Given the description of an element on the screen output the (x, y) to click on. 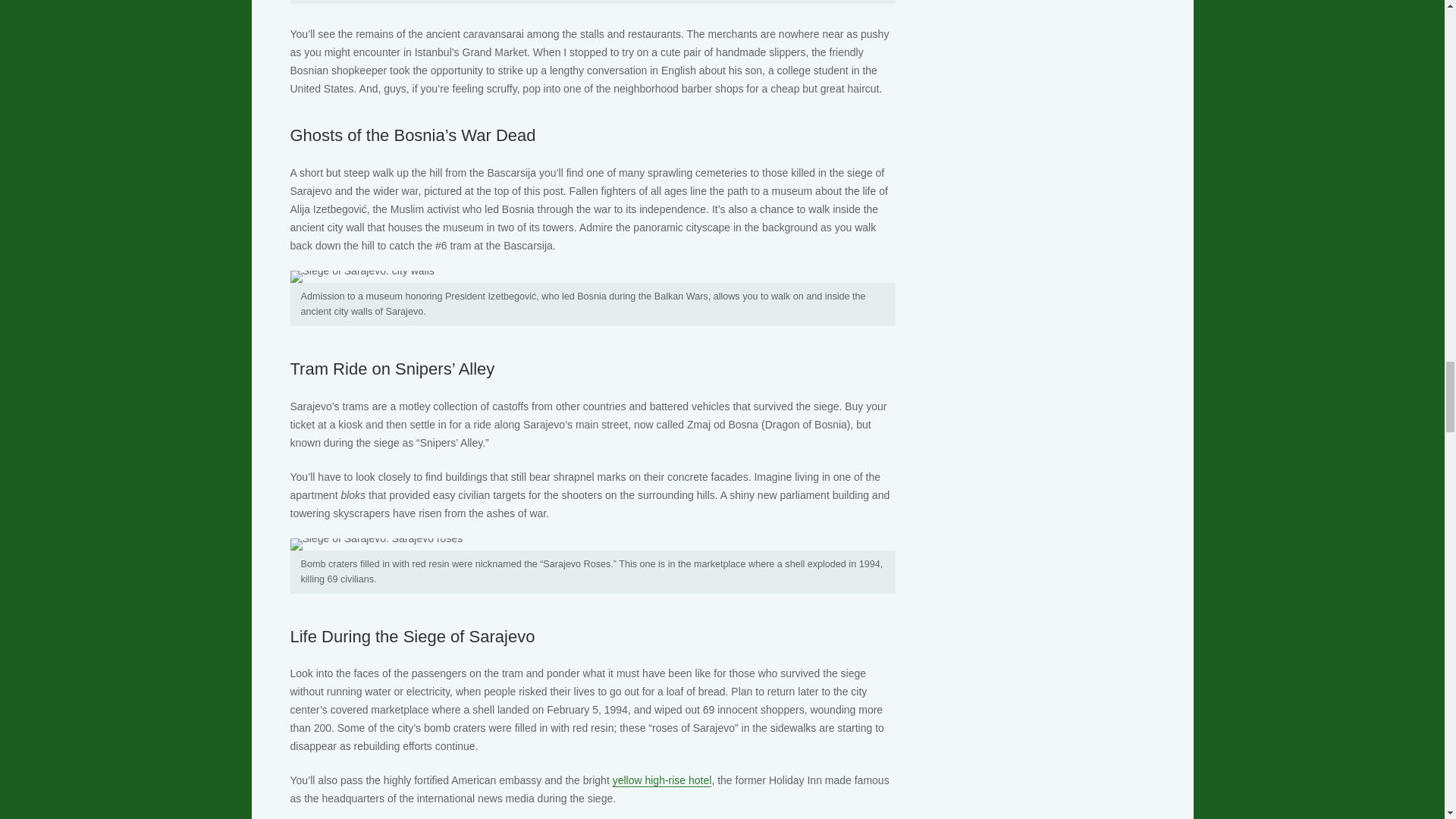
yellow high-rise hotel (661, 780)
